Given the description of an element on the screen output the (x, y) to click on. 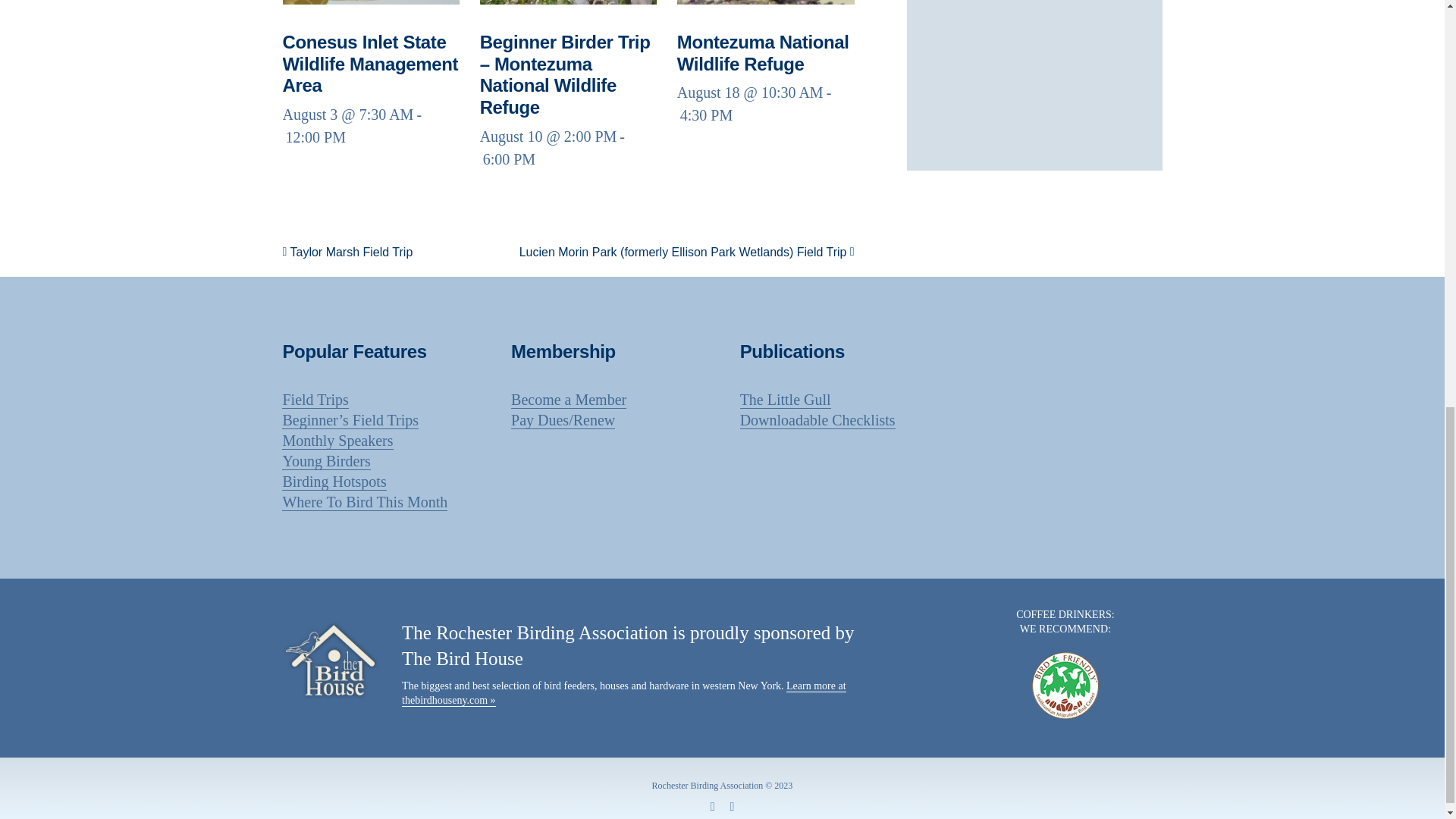
birdhouse-logo-150 (330, 660)
birdfriendlycoffeelogo (1065, 685)
